Given the description of an element on the screen output the (x, y) to click on. 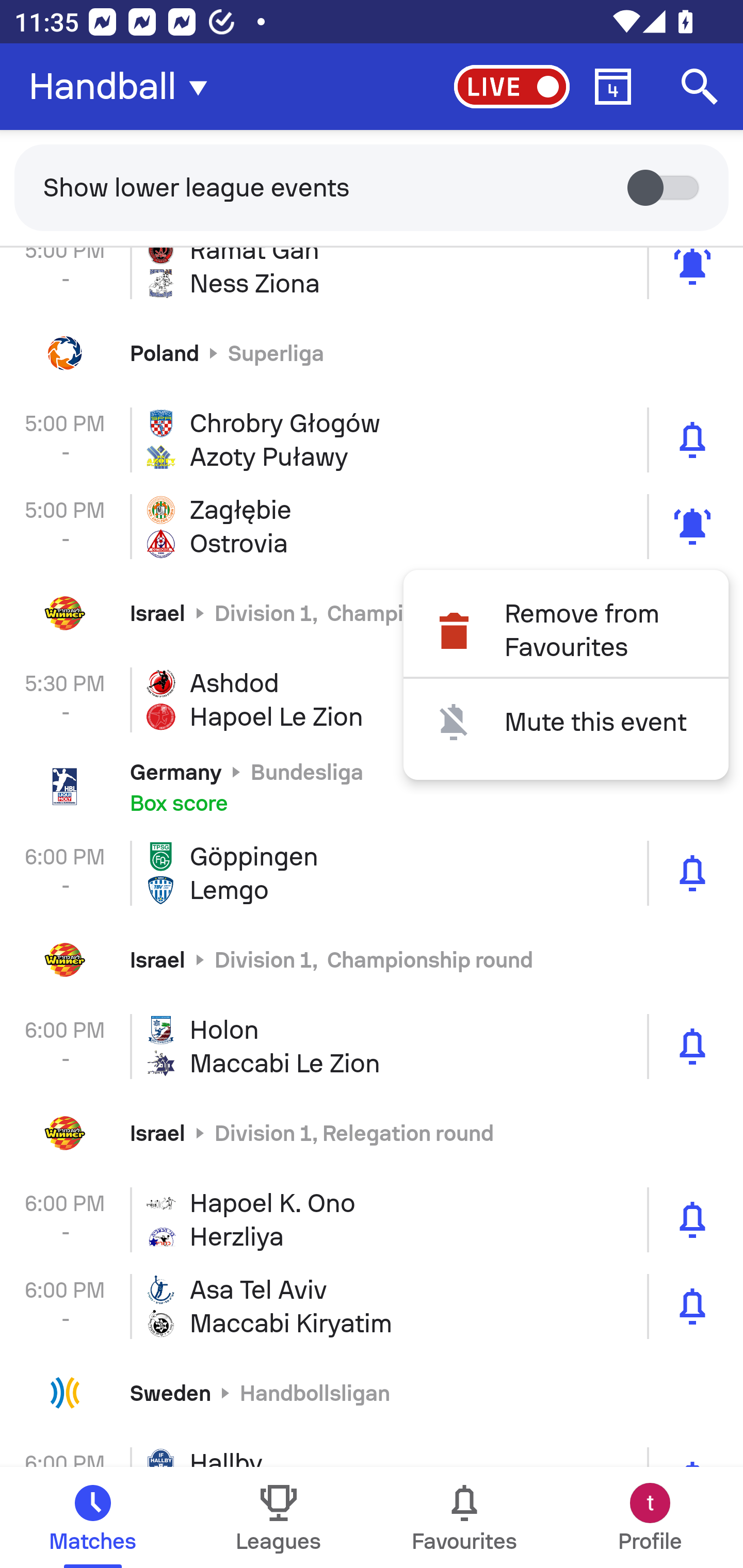
Remove from Favourites (565, 630)
Mute this event (565, 721)
